Given the description of an element on the screen output the (x, y) to click on. 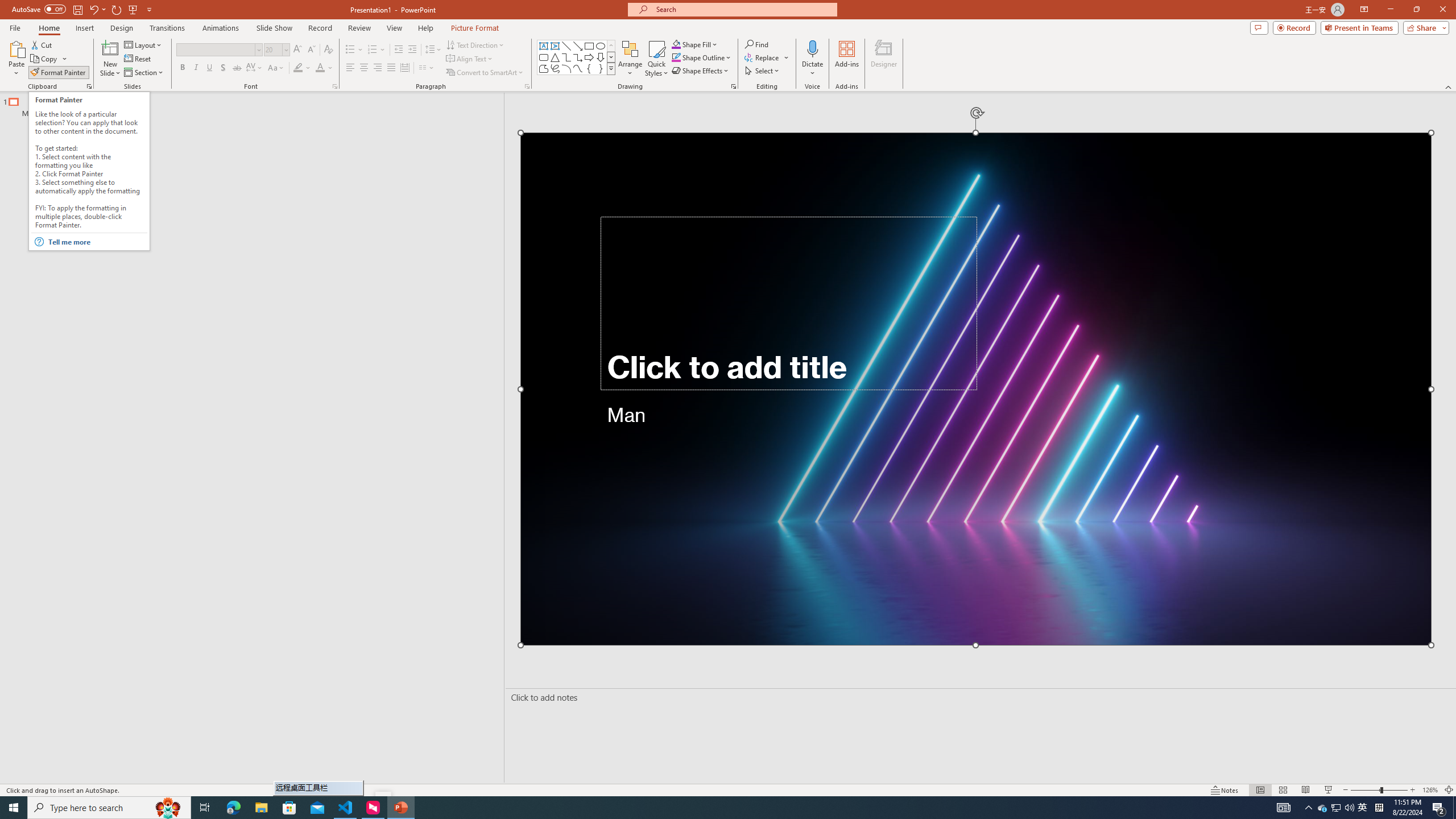
Increase Font Size (297, 49)
Zoom 126% (1430, 790)
Quick Styles (656, 58)
Character Spacing (254, 67)
Find... (756, 44)
Format Object... (733, 85)
